Given the description of an element on the screen output the (x, y) to click on. 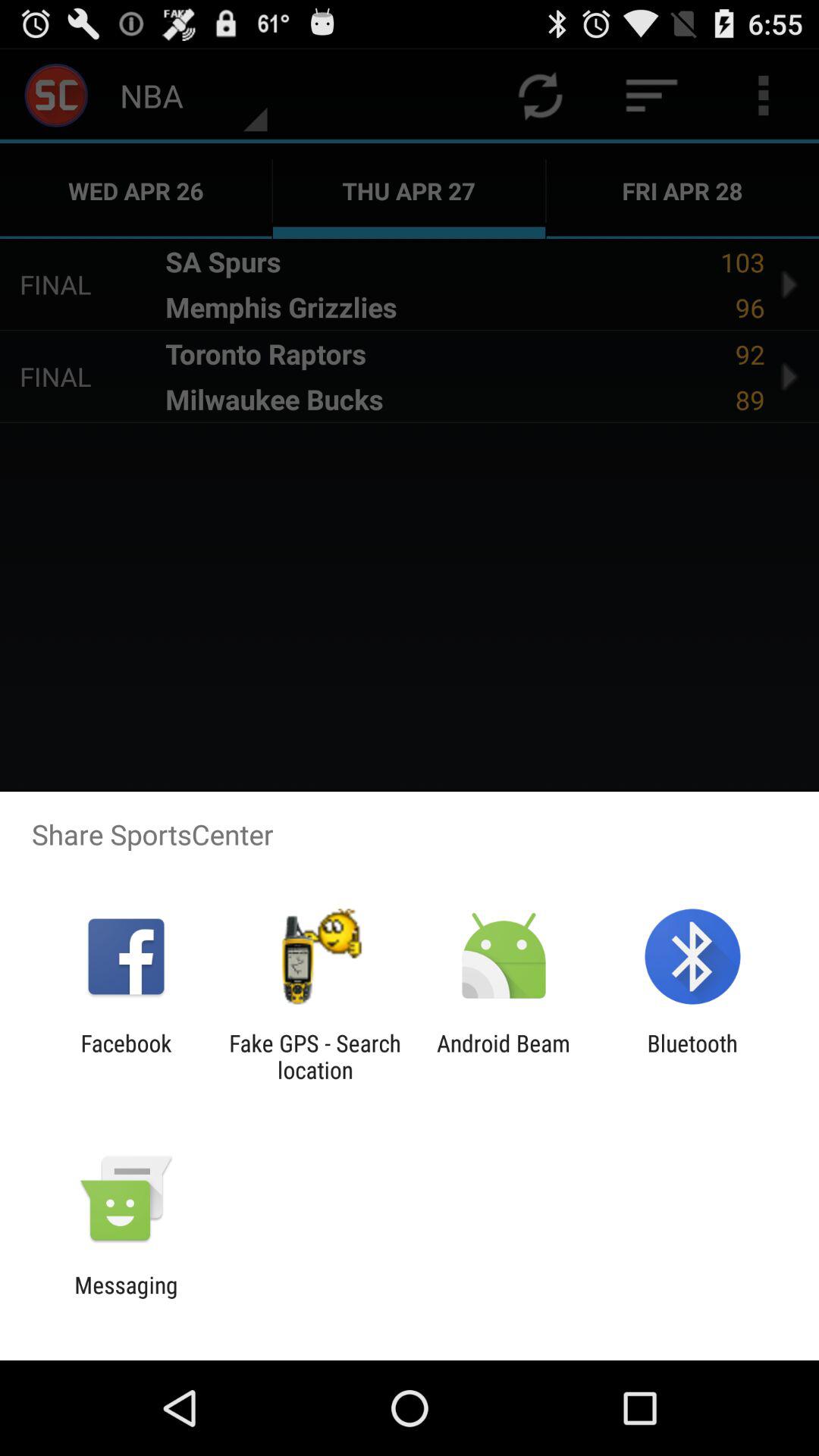
choose icon to the right of facebook app (314, 1056)
